Given the description of an element on the screen output the (x, y) to click on. 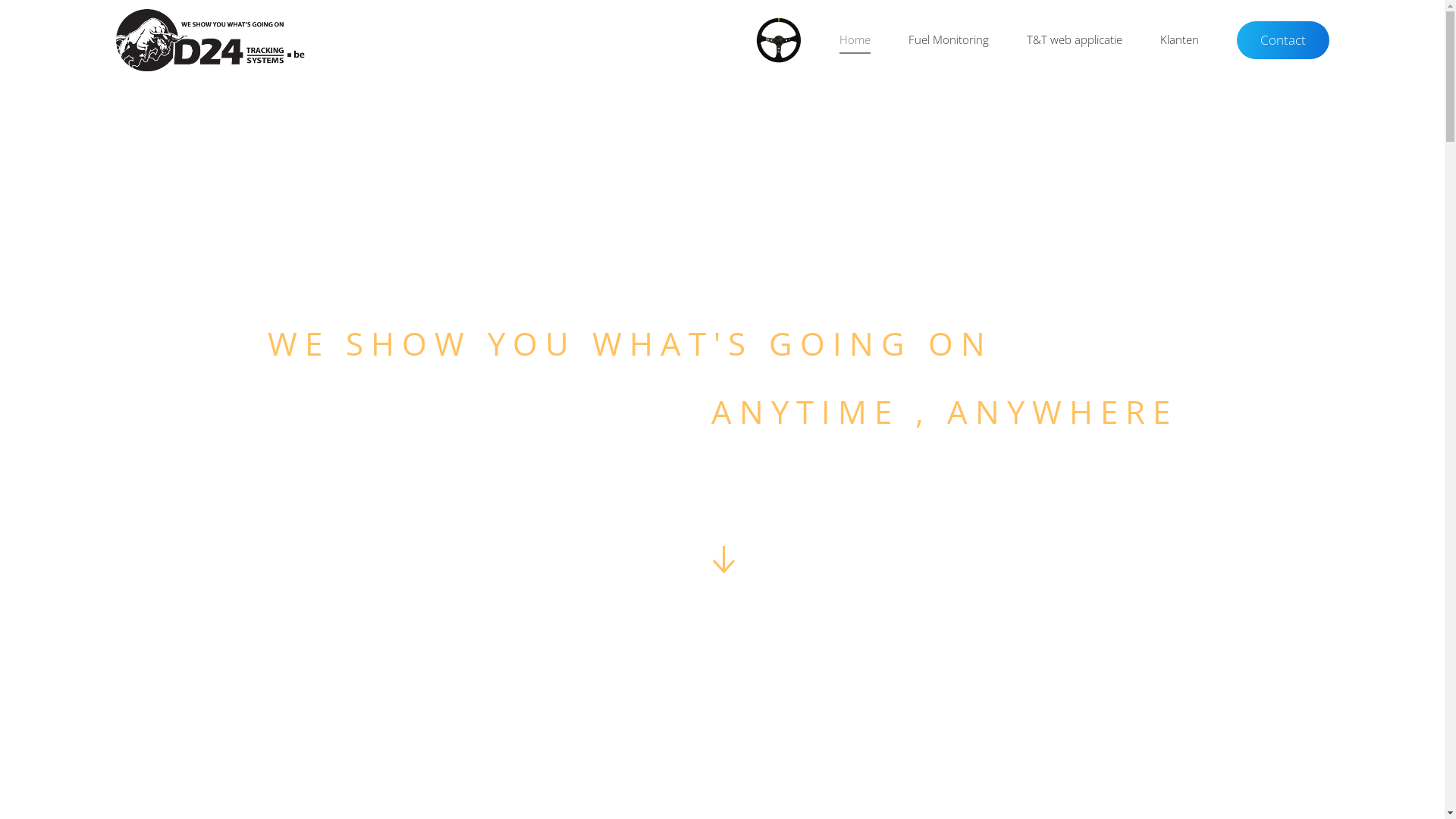
Contact Element type: text (1282, 40)
T&T web applicatie Element type: text (1073, 40)
Klanten Element type: text (1178, 40)
Home Element type: text (854, 40)
Fuel Monitoring Element type: text (947, 40)
